Given the description of an element on the screen output the (x, y) to click on. 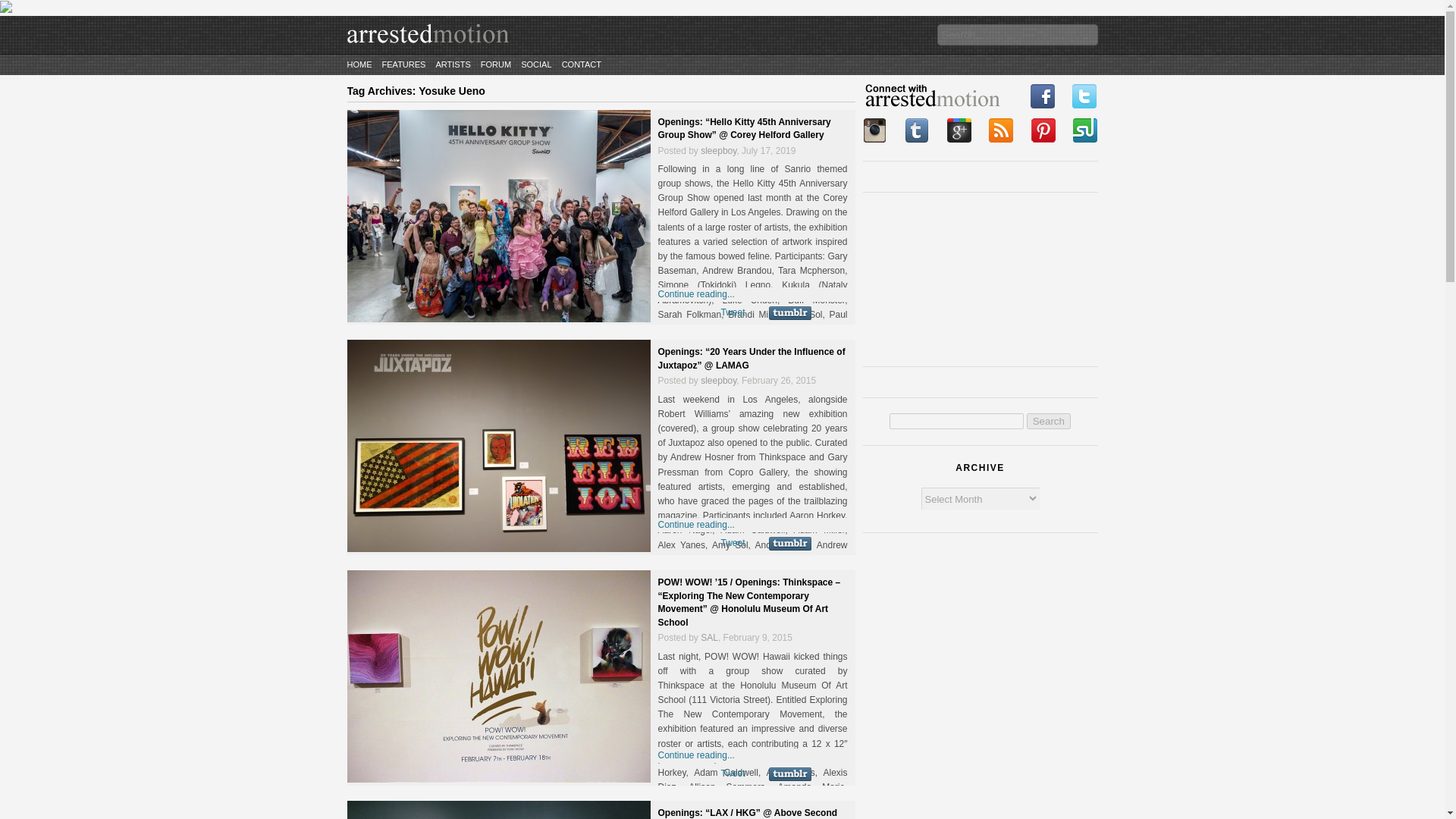
SOCIAL (536, 63)
sleepboy (718, 150)
Tweet (732, 542)
Search (1048, 421)
SAL (708, 637)
Continue reading... (696, 294)
FEATURES (403, 63)
Tweet (732, 773)
Continue reading... (696, 755)
Tweet (732, 312)
